Given the description of an element on the screen output the (x, y) to click on. 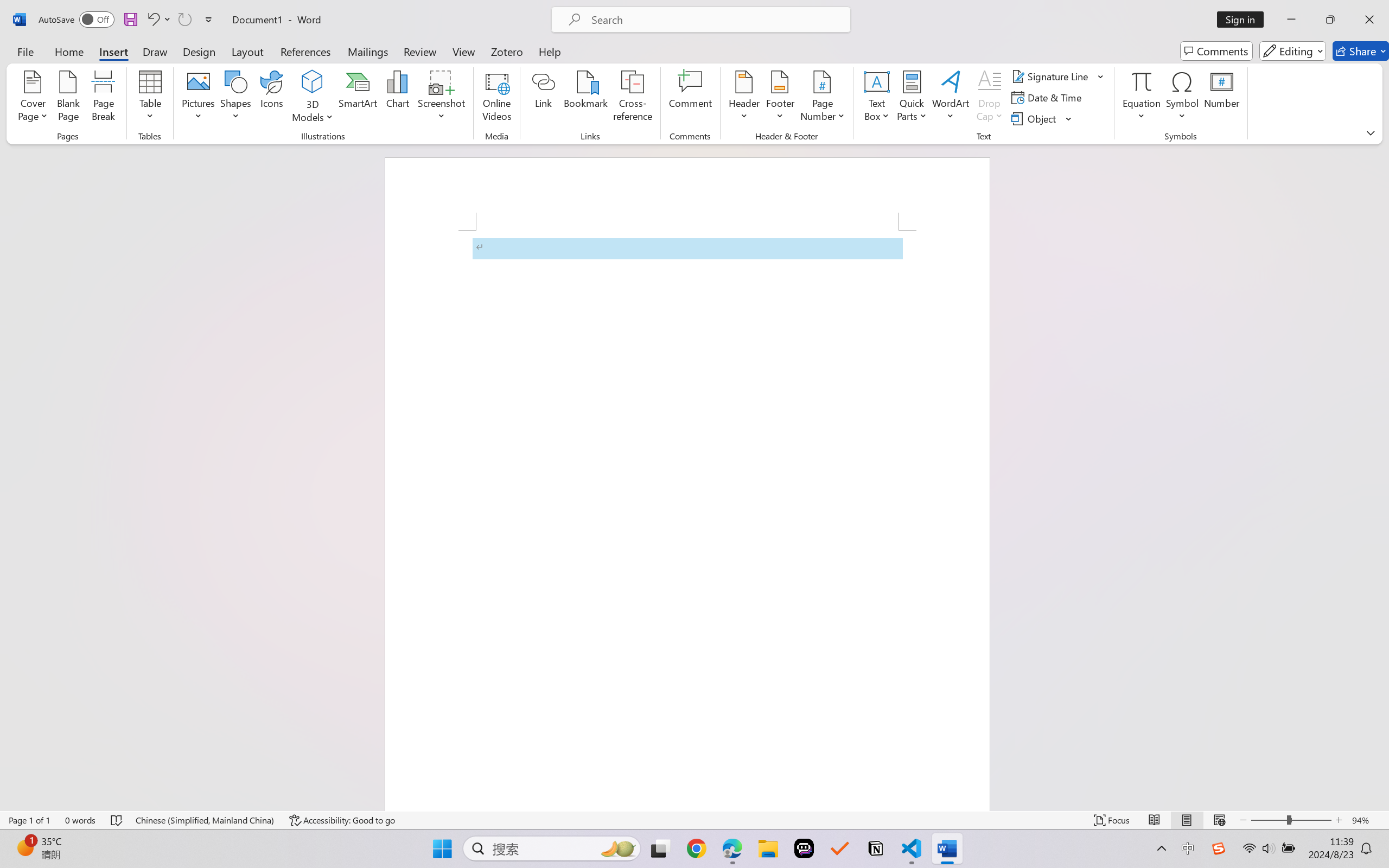
Editing (1292, 50)
Undo Apply Quick Style (158, 19)
Object... (1035, 118)
Date & Time... (1048, 97)
Signature Line (1051, 75)
Icons (271, 97)
Equation (1141, 81)
